Given the description of an element on the screen output the (x, y) to click on. 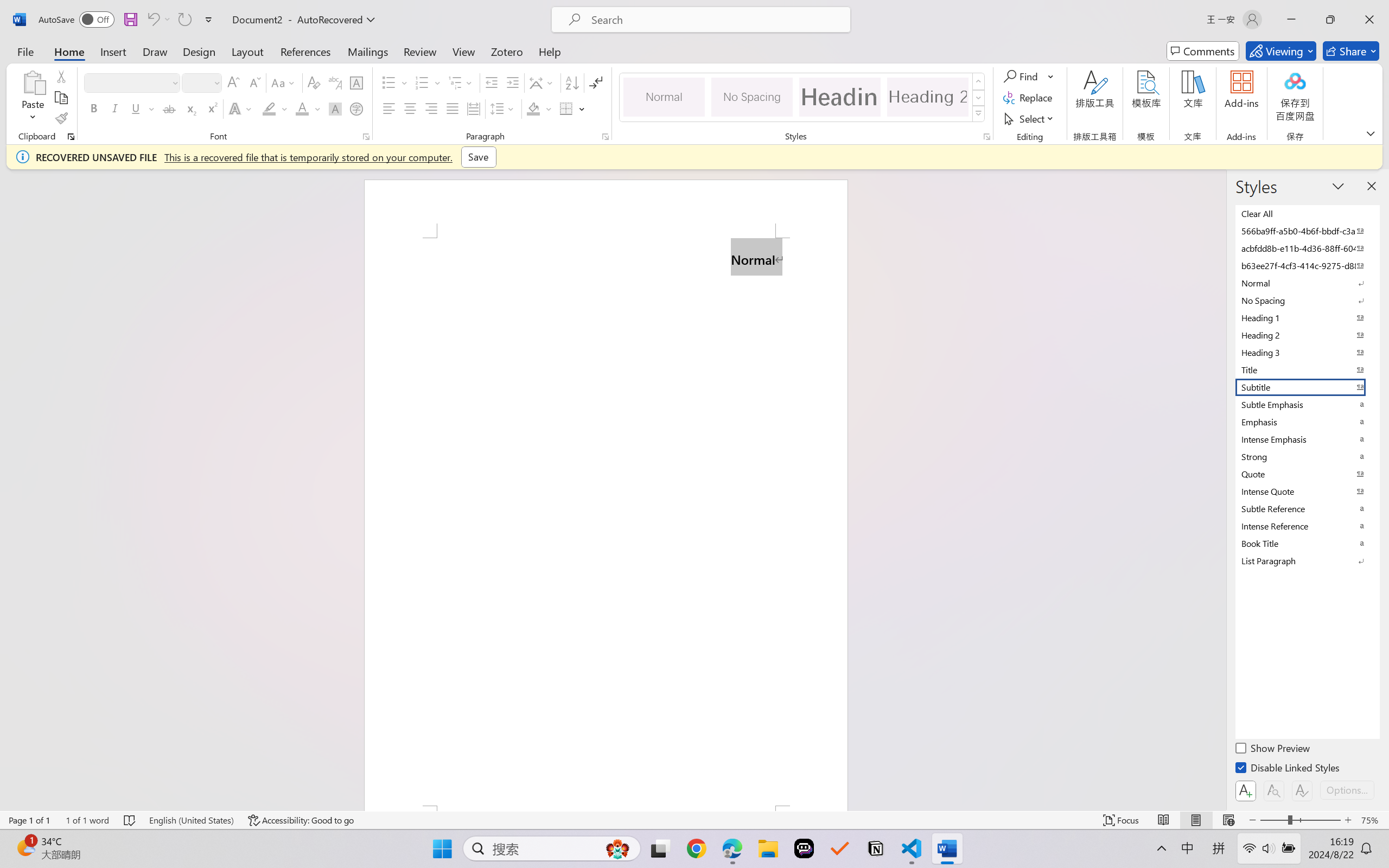
Increase Indent (512, 82)
Emphasis (1306, 421)
Font Color (308, 108)
AutomationID: QuickStylesGallery (802, 97)
Normal (1306, 282)
Grow Font (233, 82)
Options... (1346, 789)
Shading RGB(0, 0, 0) (533, 108)
Change Case (284, 82)
